Given the description of an element on the screen output the (x, y) to click on. 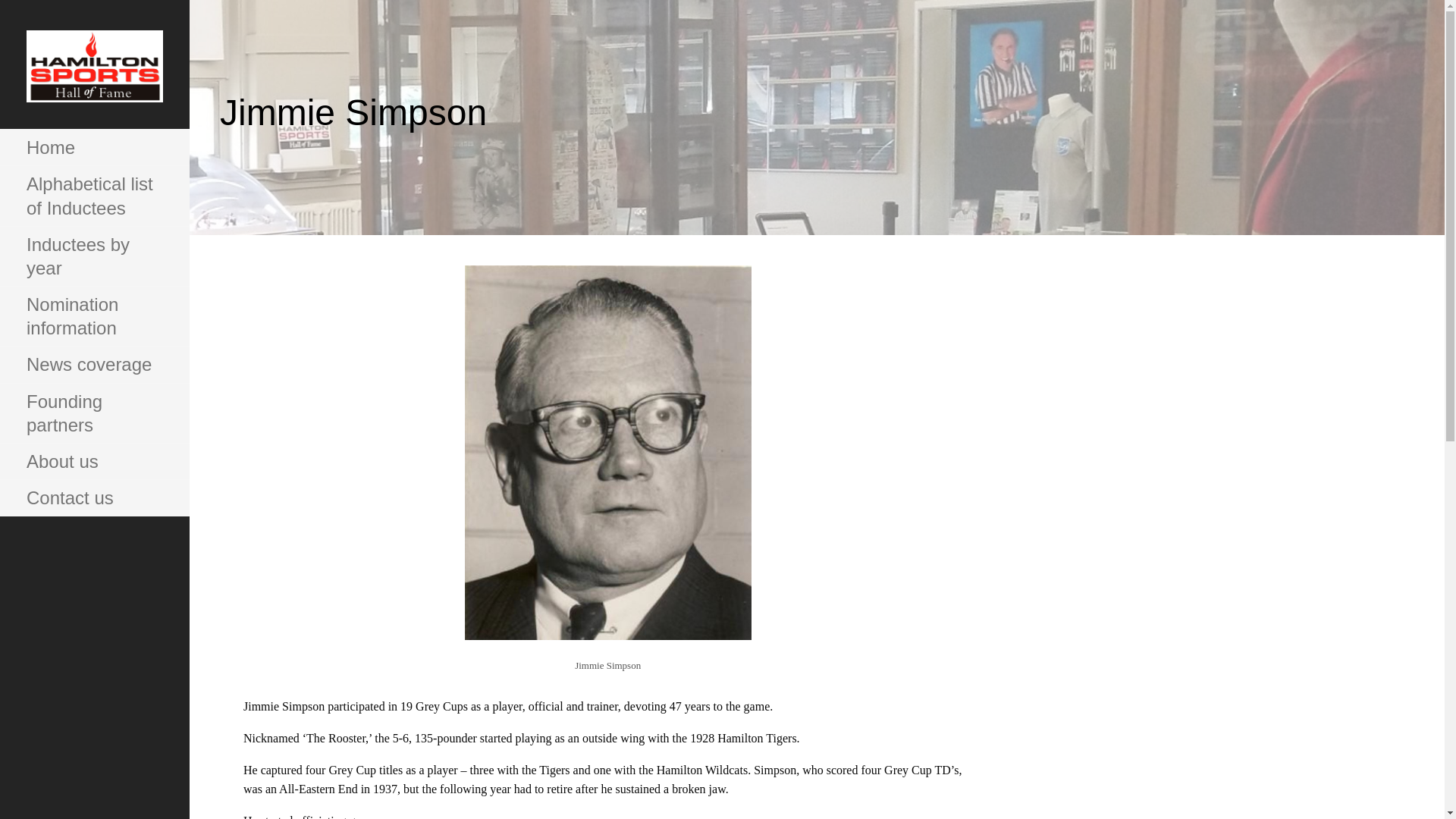
Alphabetical list of Inductees (94, 196)
Home (94, 147)
HAMILTON SPORTS HALL OF FAME (107, 140)
Inductees by year (94, 256)
